Given the description of an element on the screen output the (x, y) to click on. 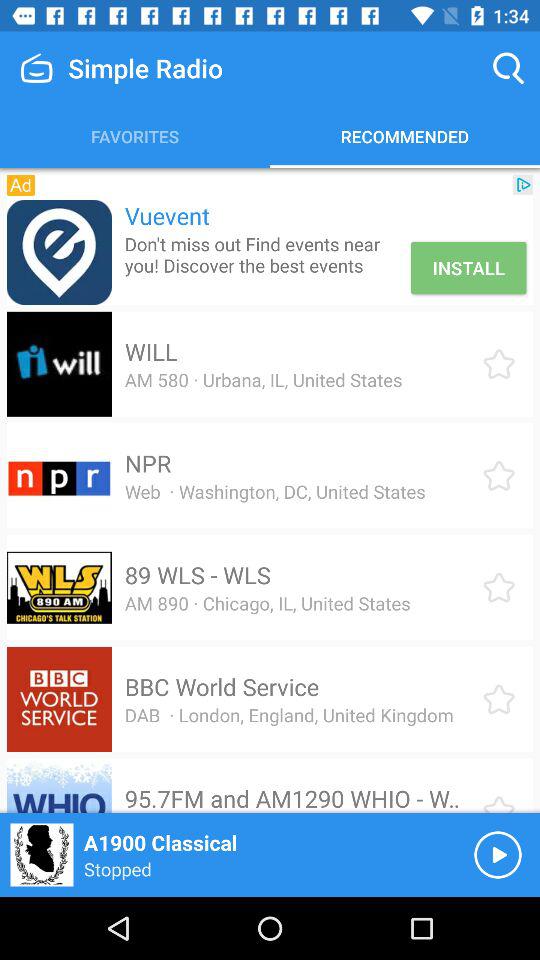
press the item above bbc world service (267, 603)
